Given the description of an element on the screen output the (x, y) to click on. 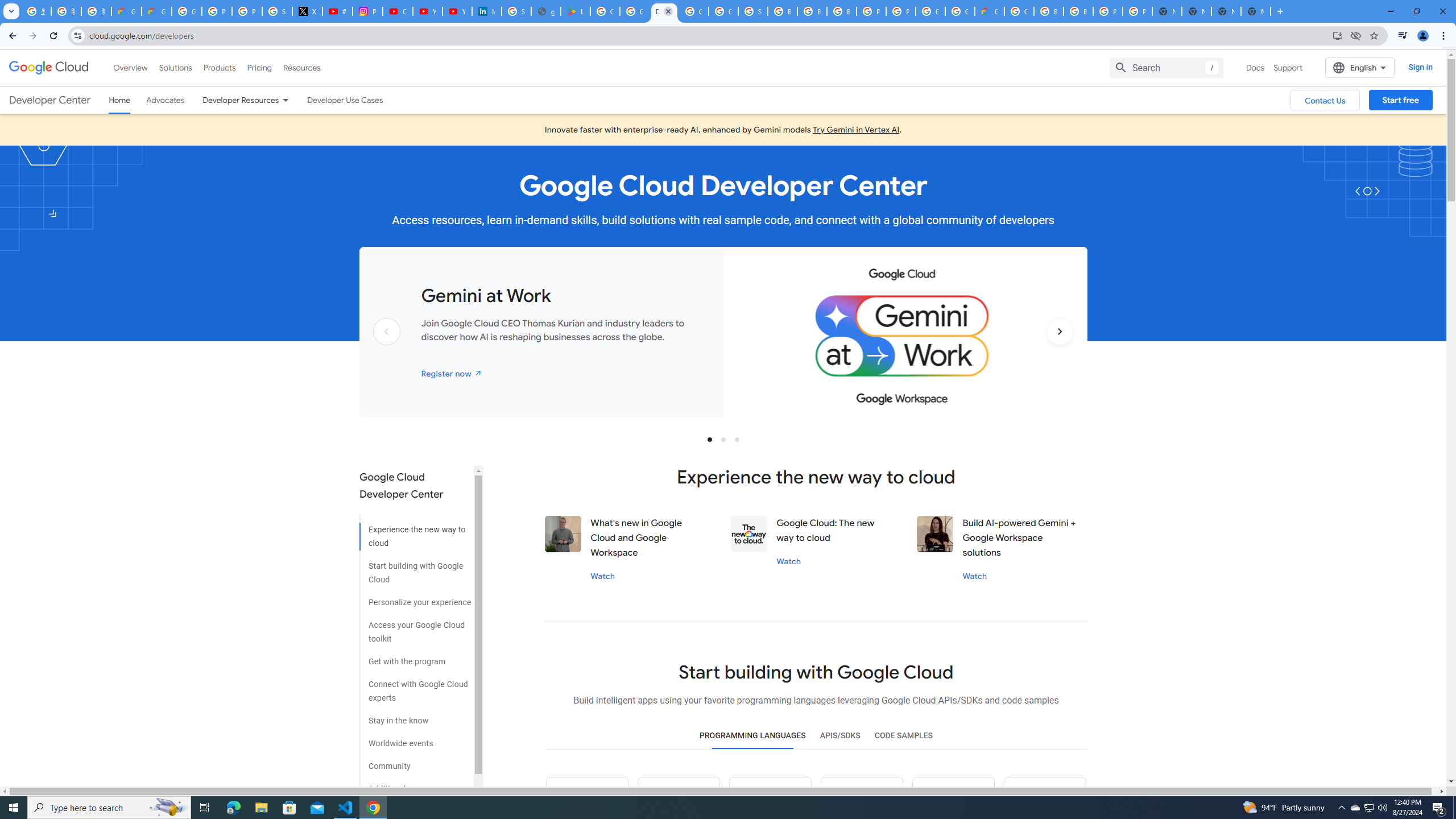
Google Cloud Platform (693, 11)
Google Cloud Platform (1018, 11)
Sign in - Google Accounts (753, 11)
Google Cloud Privacy Notice (126, 11)
APIS/SDKS (839, 735)
Google Workspace - Specific Terms (634, 11)
PROGRAMMING LANGUAGES (752, 735)
Home, selected (119, 99)
Advocates (165, 99)
